Given the description of an element on the screen output the (x, y) to click on. 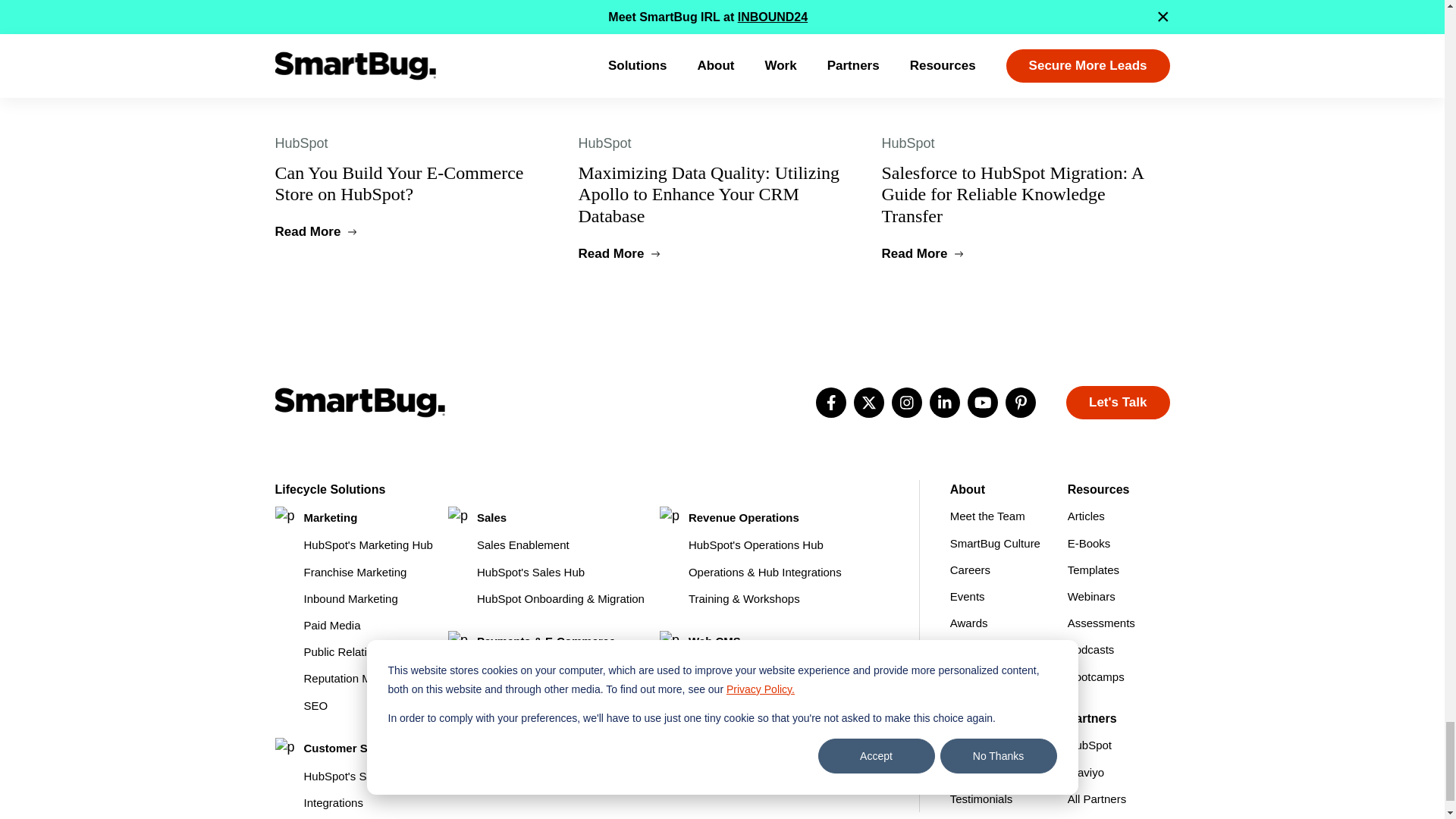
Let's Talk (1117, 402)
